Given the description of an element on the screen output the (x, y) to click on. 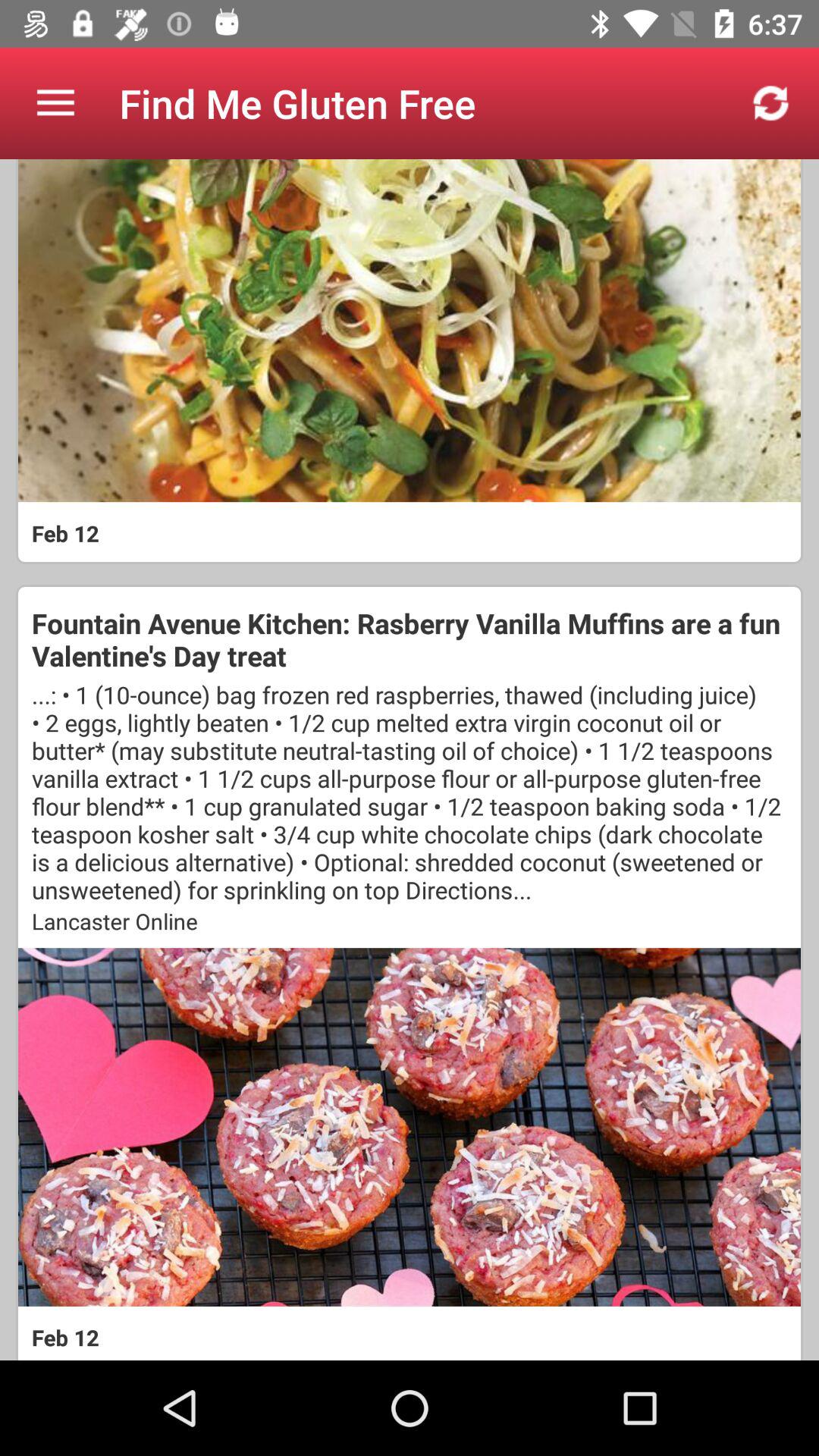
click the 1 10 ounce icon (409, 792)
